Given the description of an element on the screen output the (x, y) to click on. 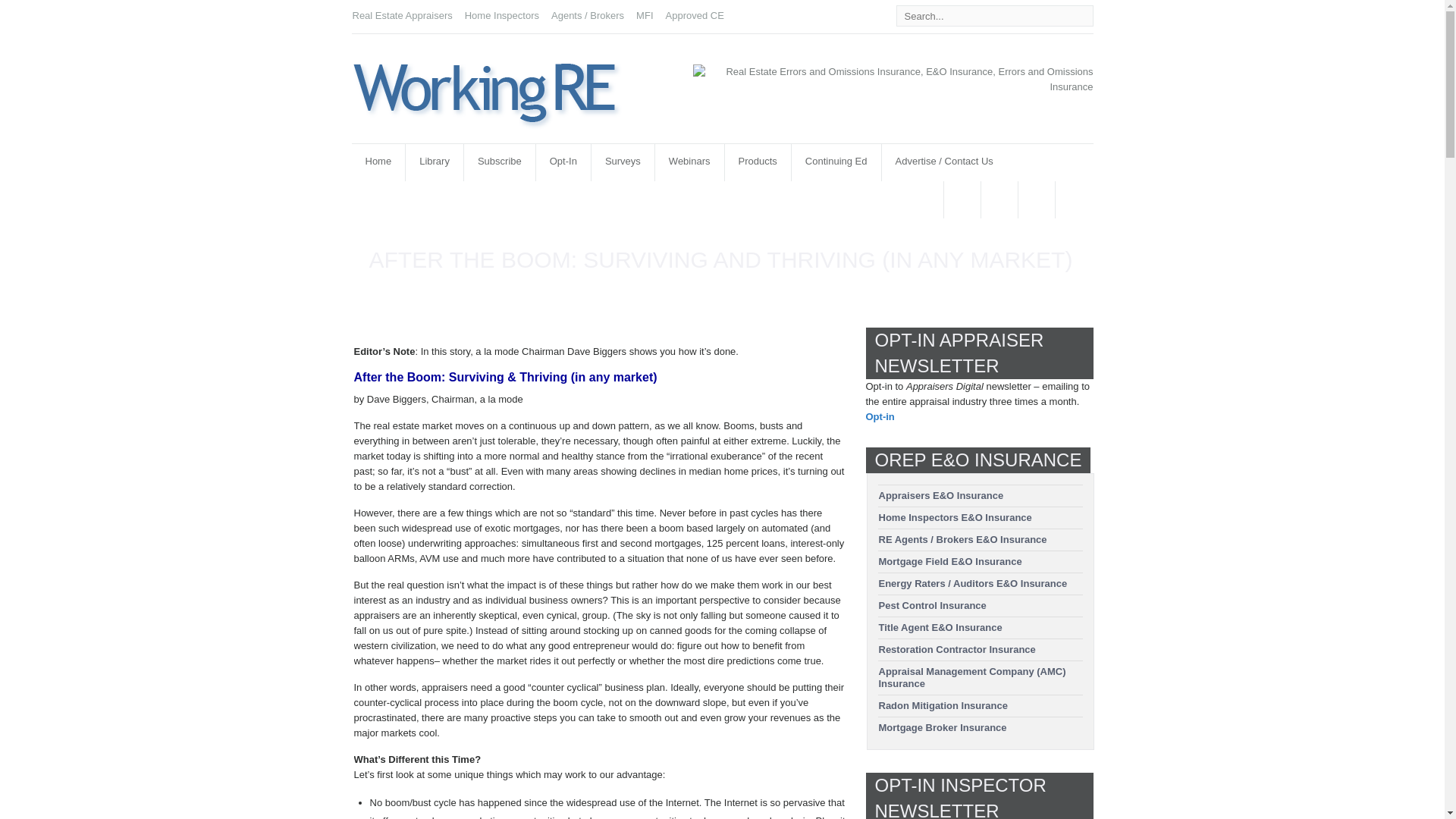
Surveys (622, 162)
Library (434, 162)
Subscribe (499, 162)
MFI (644, 15)
Approved CE (694, 15)
Webinars (689, 162)
Real Estate Appraisers (401, 15)
Home (379, 162)
Home Inspectors (501, 15)
Opt-In (563, 162)
